Given the description of an element on the screen output the (x, y) to click on. 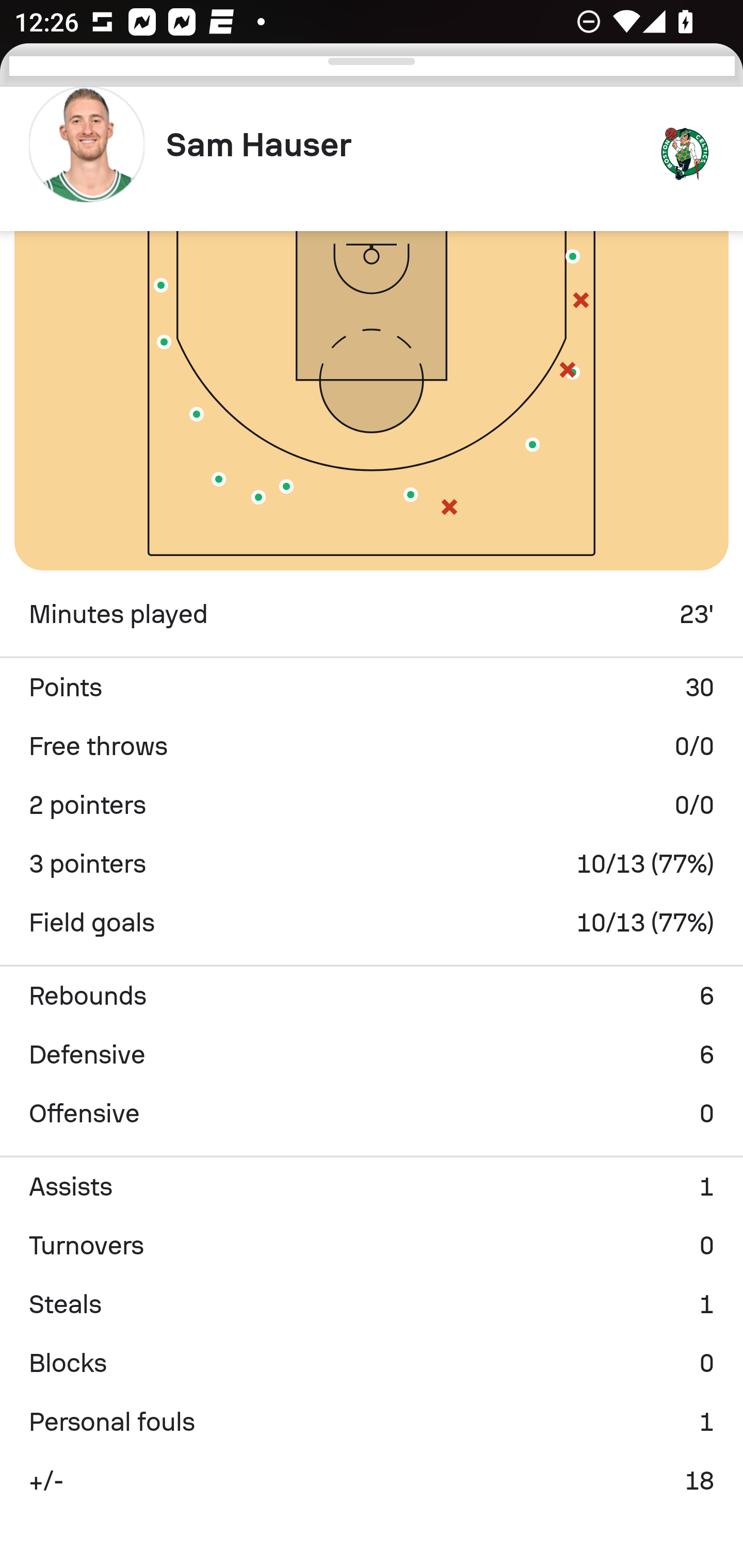
Sam Hauser (403, 144)
Minutes played 23' (371, 614)
Points 30 (371, 687)
Free throws 0/0 (371, 746)
2 pointers 0/0 (371, 805)
3 pointers 10/13 (77%) (371, 863)
Field goals 10/13 (77%) (371, 922)
Rebounds 6 (371, 995)
Defensive 6 (371, 1054)
Offensive 0 (371, 1113)
Assists 1 (371, 1186)
Turnovers 0 (371, 1245)
Steals 1 (371, 1304)
Blocks 0 (371, 1363)
Personal fouls 1 (371, 1421)
+/- 18 (371, 1480)
